Given the description of an element on the screen output the (x, y) to click on. 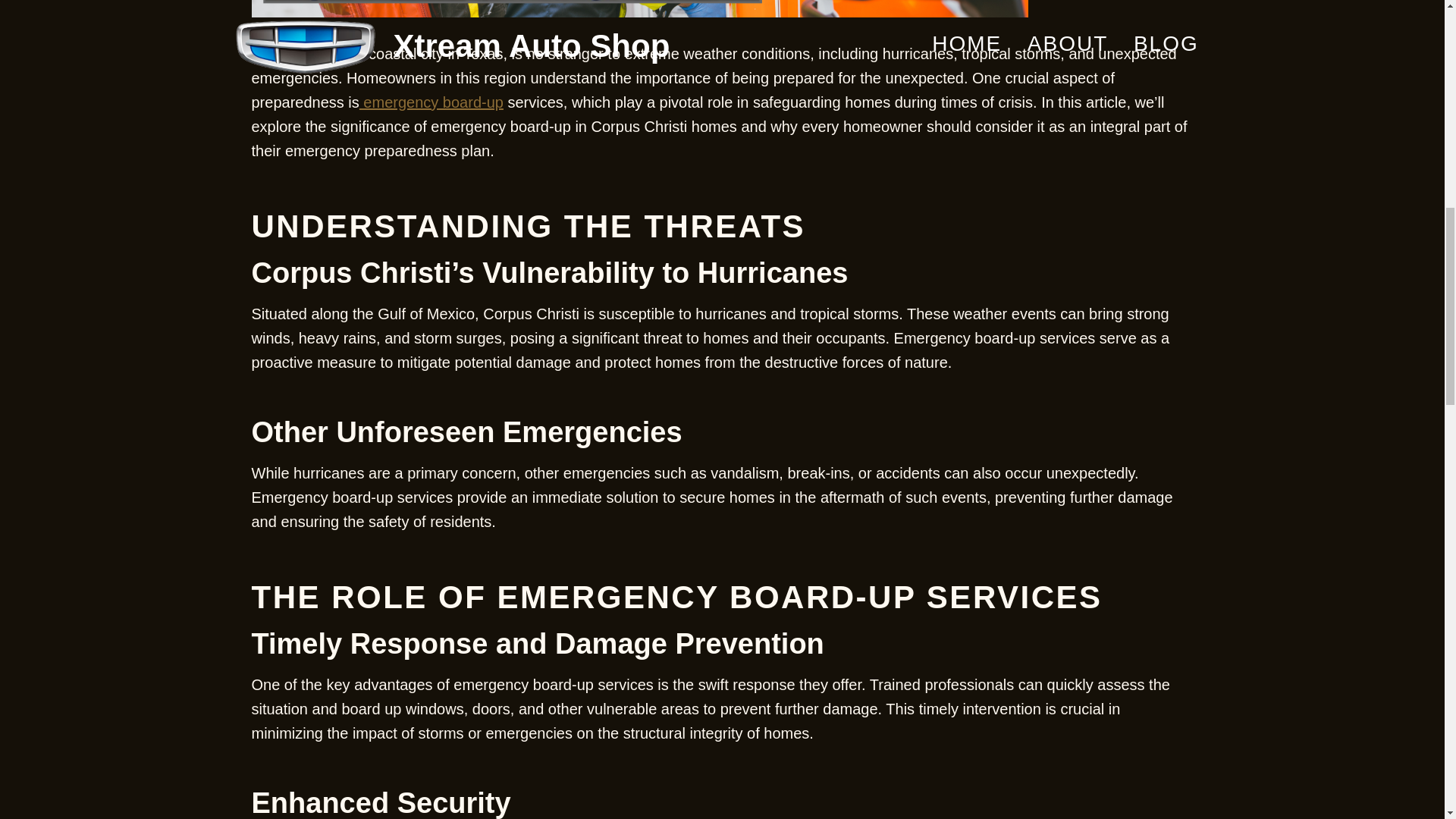
Corpus Christi, (301, 53)
emergency board-up (431, 102)
